Given the description of an element on the screen output the (x, y) to click on. 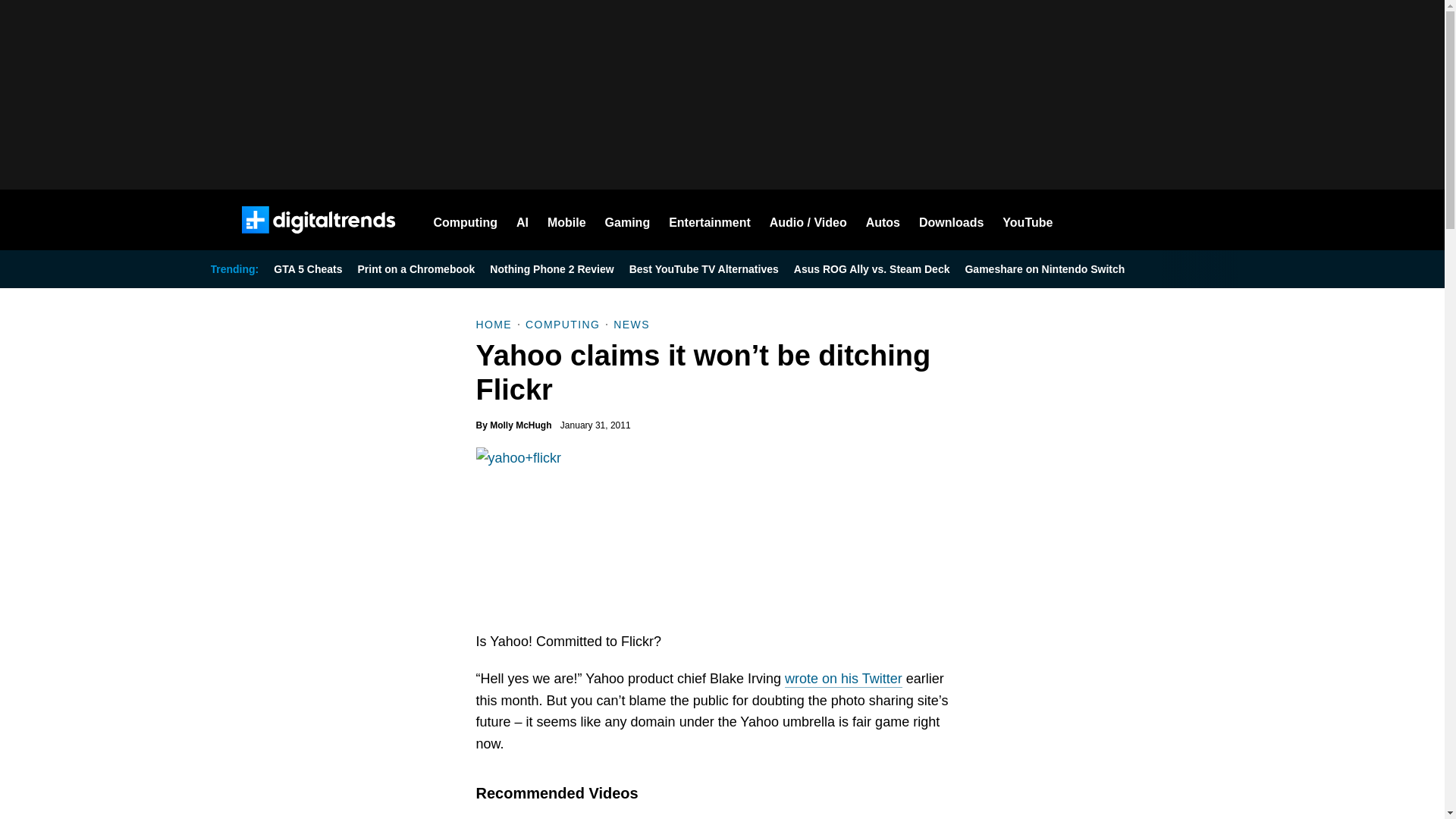
Gaming (627, 219)
Mobile (566, 219)
Entertainment (709, 219)
YouTube (1027, 219)
Downloads (951, 219)
Autos (882, 219)
Computing (465, 219)
AI (522, 219)
